Given the description of an element on the screen output the (x, y) to click on. 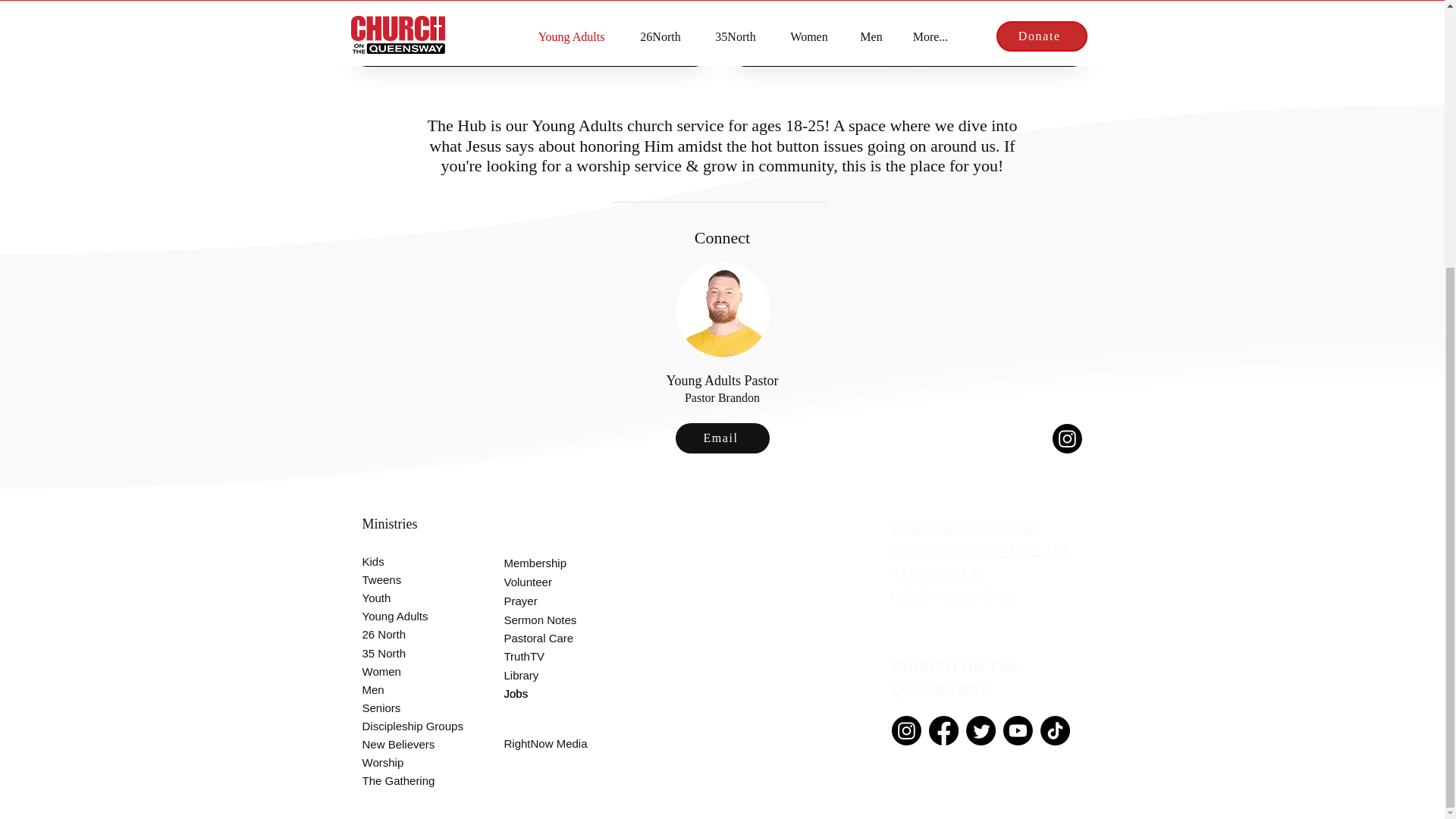
Seniors (405, 707)
The Gathering (405, 780)
New Believers (405, 743)
Email (721, 438)
Membership (546, 562)
35 North (405, 652)
Worship (405, 761)
Young Adults (405, 615)
Women (405, 670)
26 North (405, 633)
Men (405, 689)
Kids (405, 561)
Discipleship Groups (419, 725)
Tweens (405, 579)
Youth (405, 597)
